Given the description of an element on the screen output the (x, y) to click on. 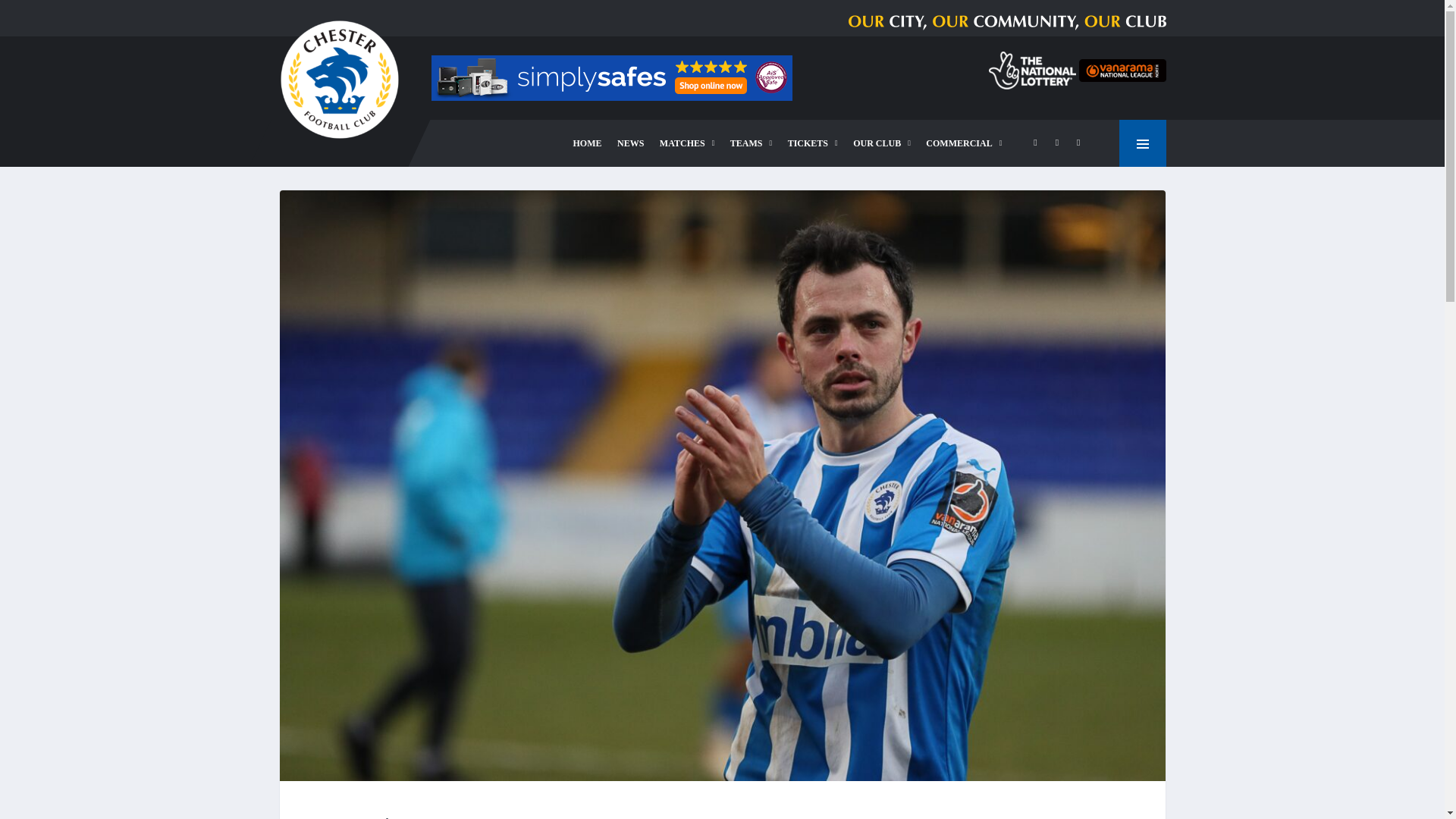
HOME (587, 143)
MATCHES (686, 143)
TEAMS (750, 143)
TICKETS (812, 143)
OUR CLUB (882, 143)
NEWS (630, 143)
